Given the description of an element on the screen output the (x, y) to click on. 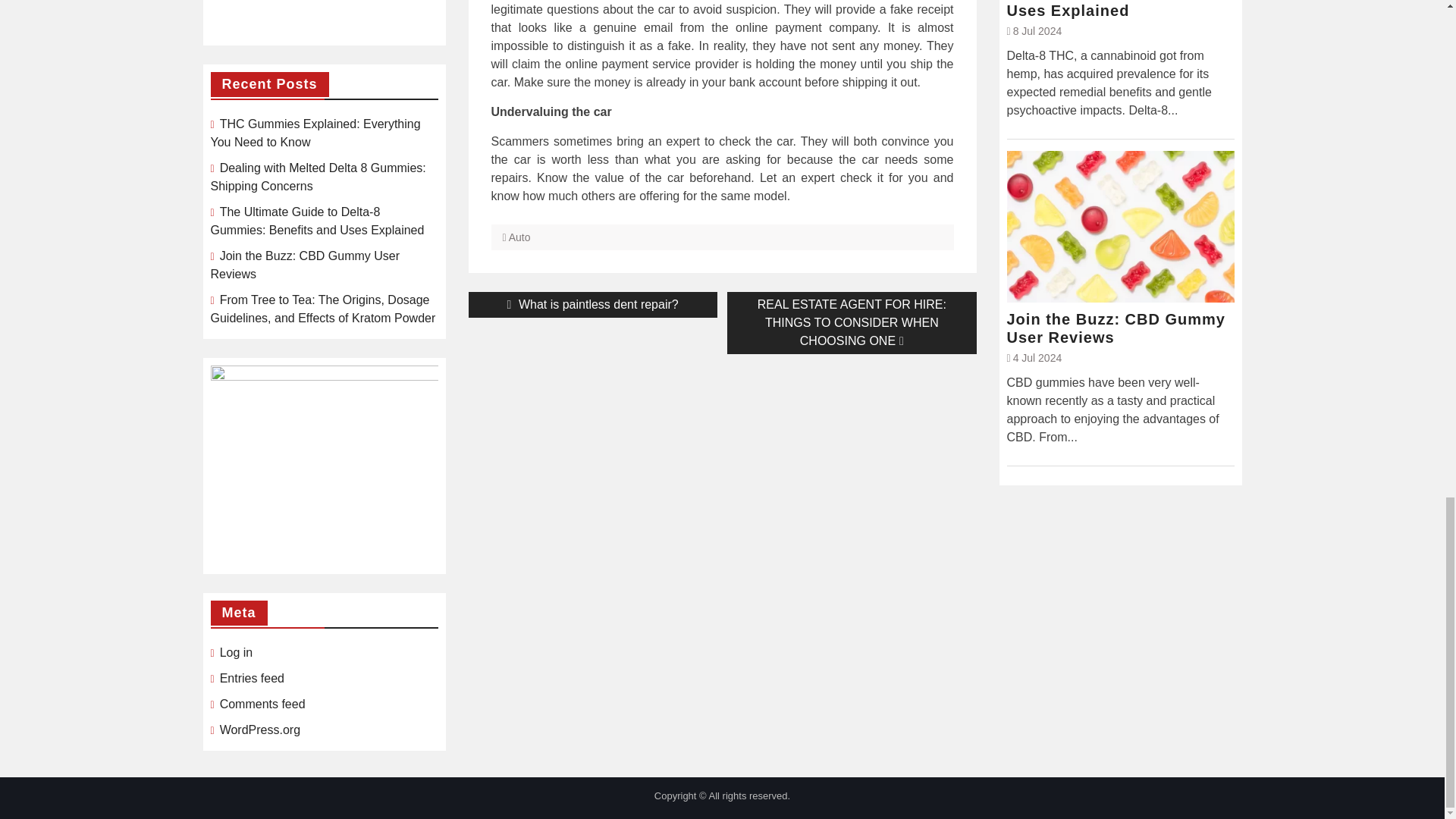
Auto (519, 236)
Join the Buzz: CBD Gummy User Reviews (592, 304)
